Given the description of an element on the screen output the (x, y) to click on. 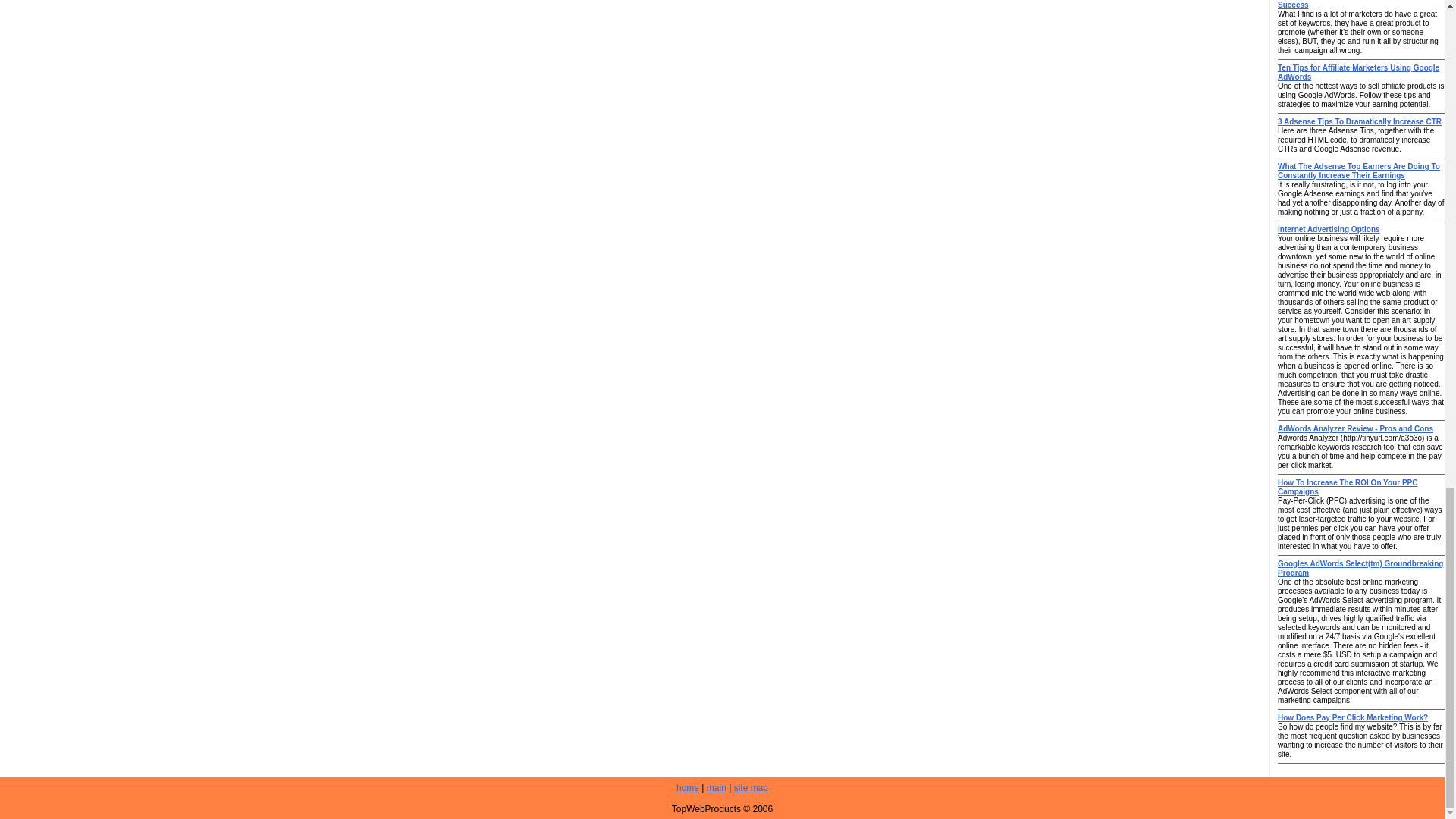
Preliminary Survival Steps for Adwords Success (1348, 4)
home (687, 787)
Ten Tips for Affiliate Marketers Using Google AdWords (1358, 72)
AdWords Analyzer Review - Pros and Cons (1355, 429)
Internet Advertising Options (1329, 229)
3 Adsense Tips To Dramatically Increase CTR (1359, 121)
How Does Pay Per Click Marketing Work? (1353, 717)
site map (750, 787)
main (716, 787)
